Given the description of an element on the screen output the (x, y) to click on. 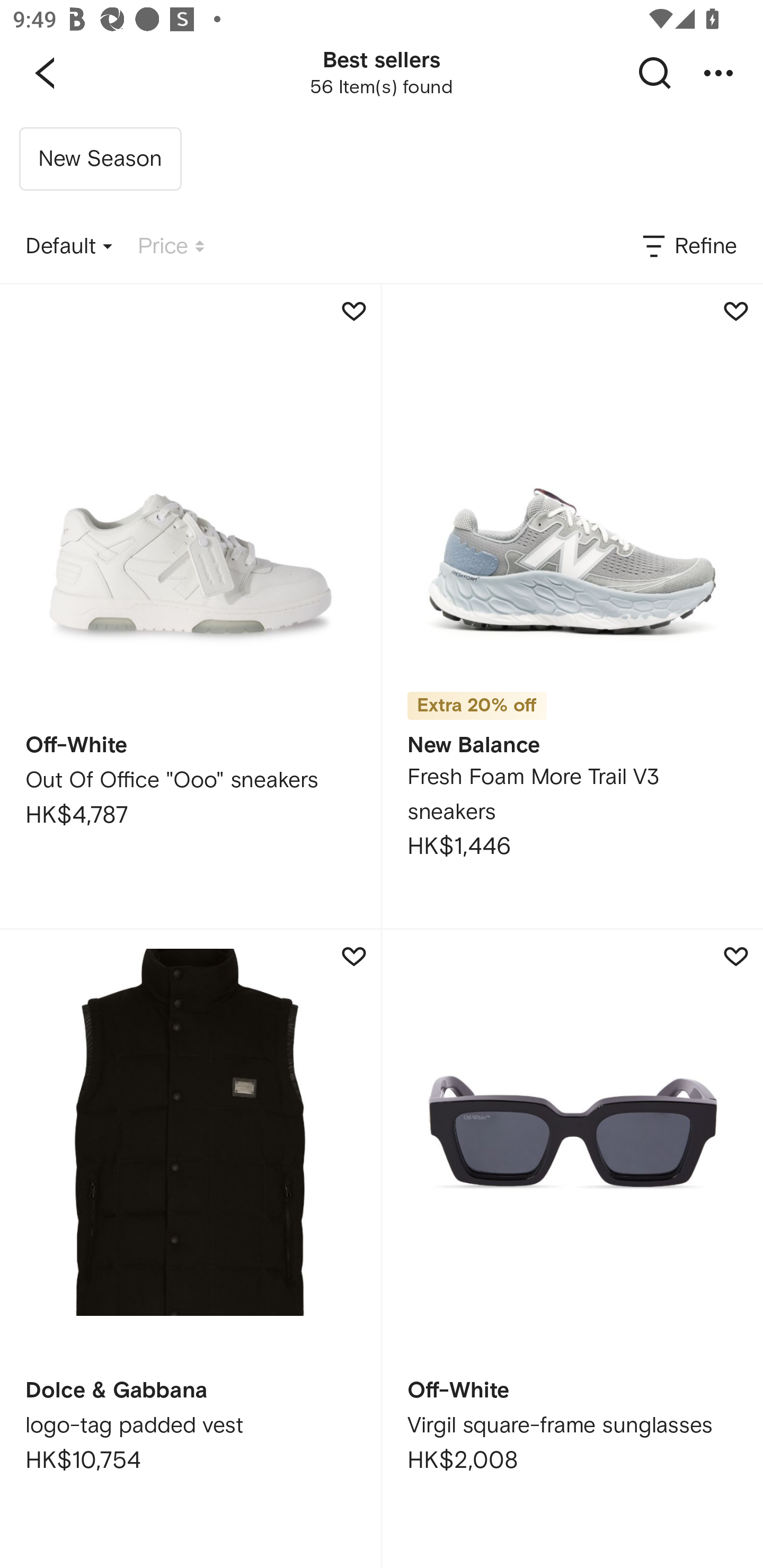
New Season (100, 158)
Default (68, 246)
Price (171, 246)
Refine (688, 246)
Off-White Out Of Office "Ooo" sneakers HK$4,787 (190, 605)
Extra 20% off (477, 698)
Dolce & Gabbana logo-tag padded vest HK$10,754 (190, 1248)
Off-White Virgil square-frame sunglasses HK$2,008 (572, 1248)
